Given the description of an element on the screen output the (x, y) to click on. 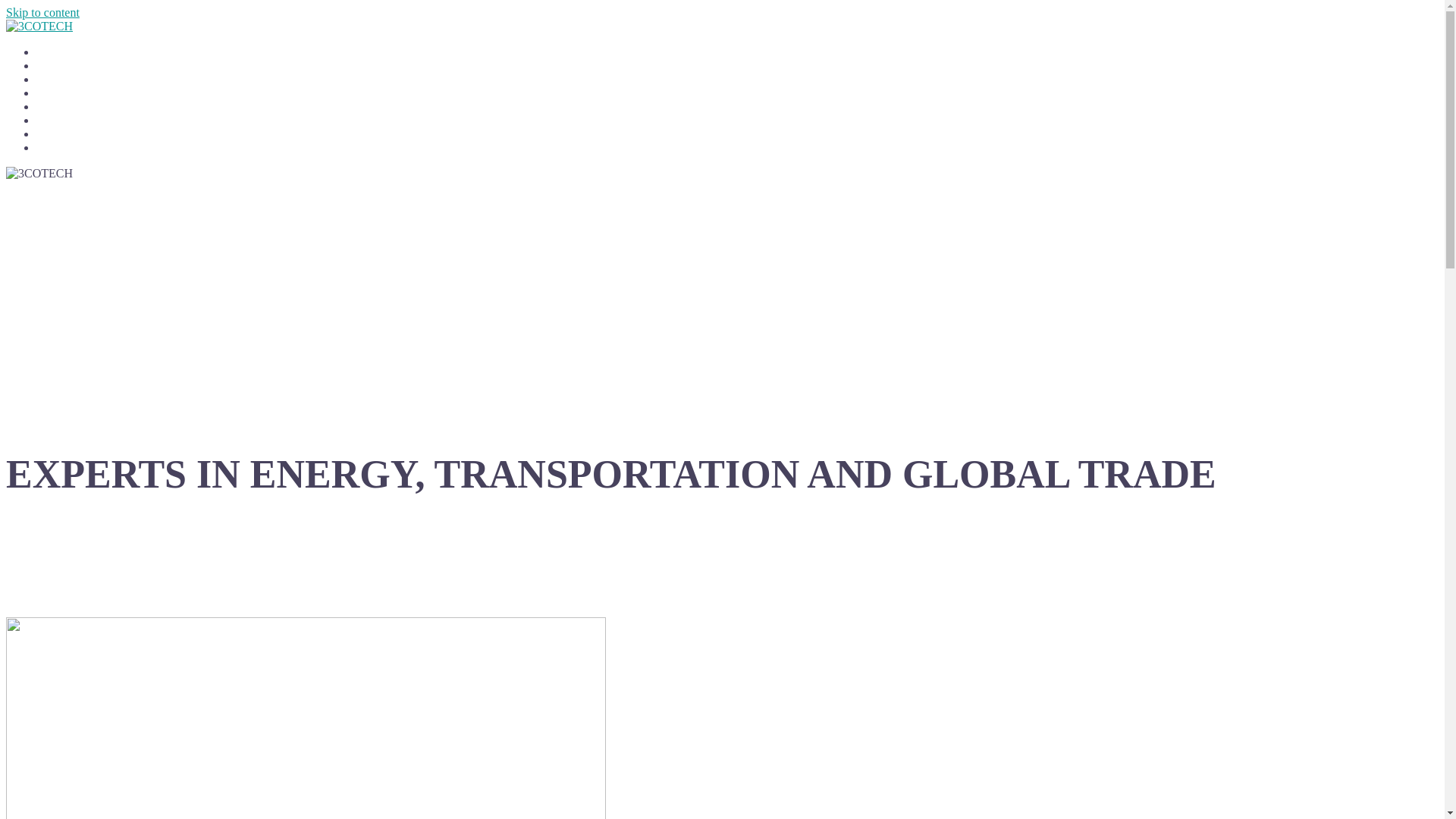
Skip to content Element type: text (42, 12)
3COTECH Element type: hover (39, 173)
Sectors Element type: text (51, 79)
Projects Element type: text (53, 93)
Home Element type: text (49, 52)
News Element type: text (48, 147)
3COTECH Element type: hover (39, 25)
About Element type: text (49, 106)
Library Element type: text (52, 134)
Qualifications Element type: text (66, 120)
Services Element type: text (54, 66)
